Given the description of an element on the screen output the (x, y) to click on. 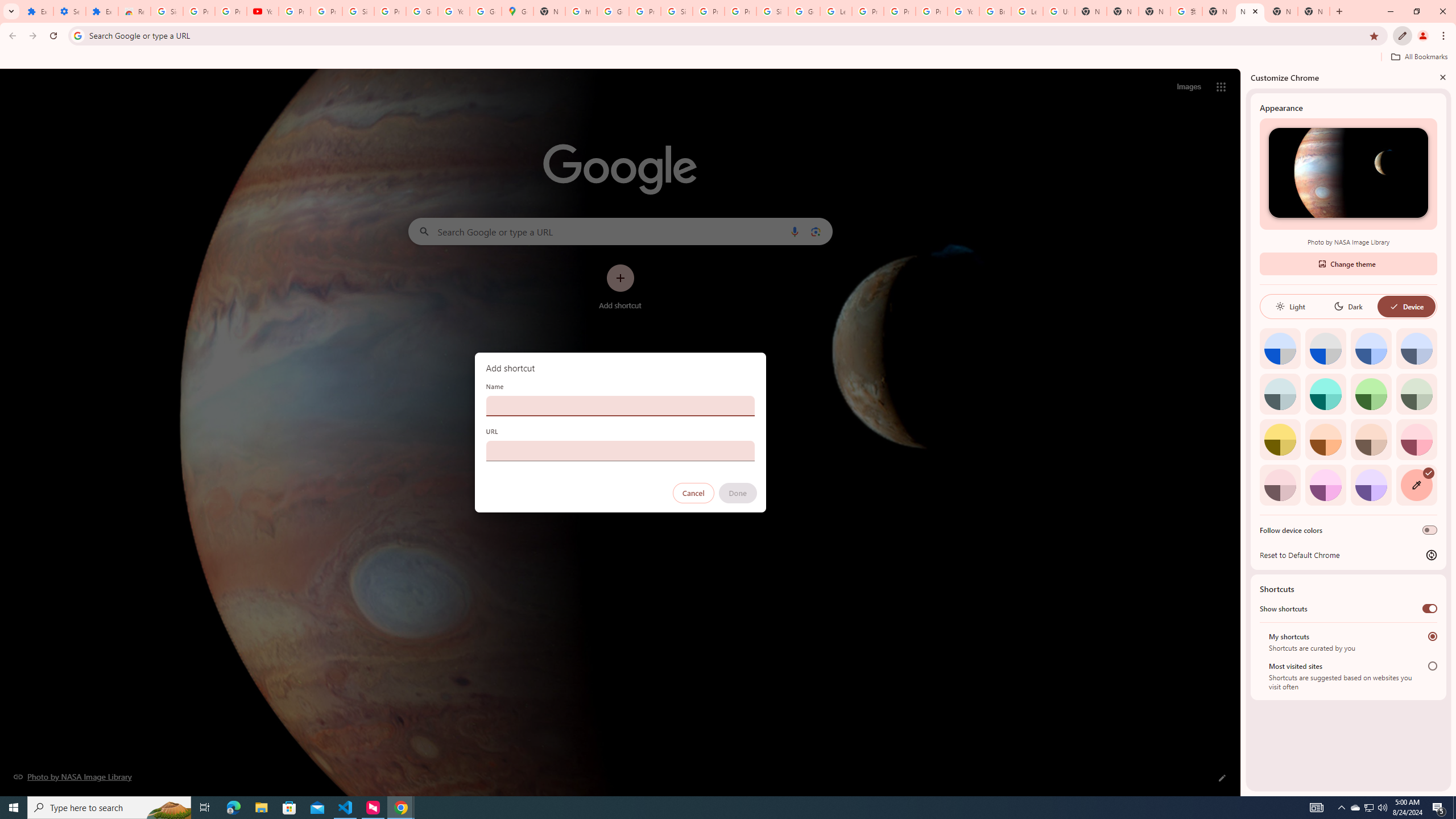
Extensions (101, 11)
AutomationID: baseSvg (1394, 306)
Default color (1279, 348)
All Bookmarks (1418, 56)
Blue (1371, 348)
Settings (69, 11)
Grey (1279, 393)
Viridian (1416, 393)
